Given the description of an element on the screen output the (x, y) to click on. 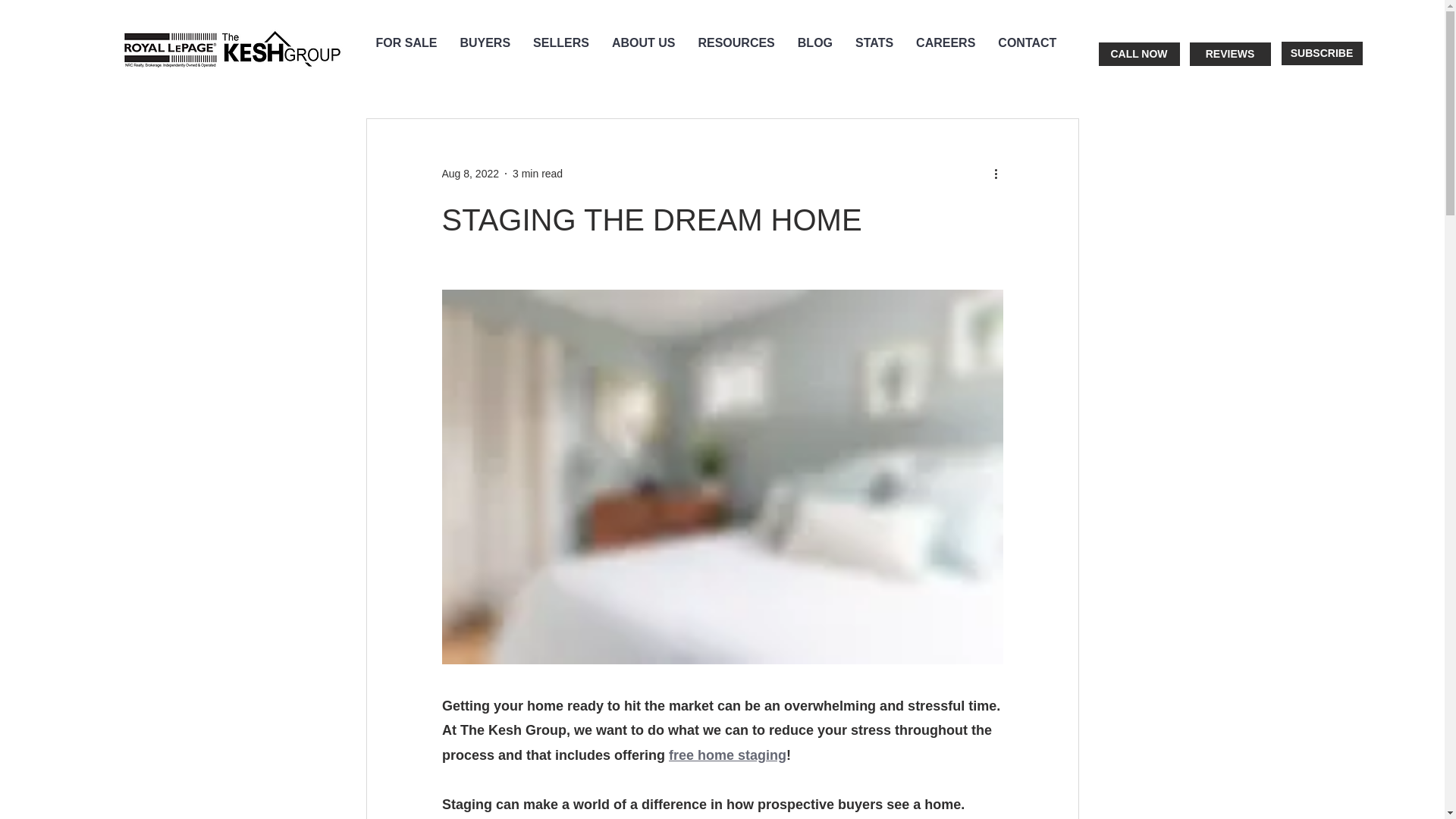
BUYERS (484, 53)
CONTACT (1027, 53)
RESOURCES (735, 53)
free home staging (727, 754)
CALL NOW (1138, 54)
The Kesh Group - Royal LePage NRC Realty (229, 49)
3 min read (537, 173)
STATS (874, 53)
REVIEWS (1229, 54)
Aug 8, 2022 (470, 173)
